Given the description of an element on the screen output the (x, y) to click on. 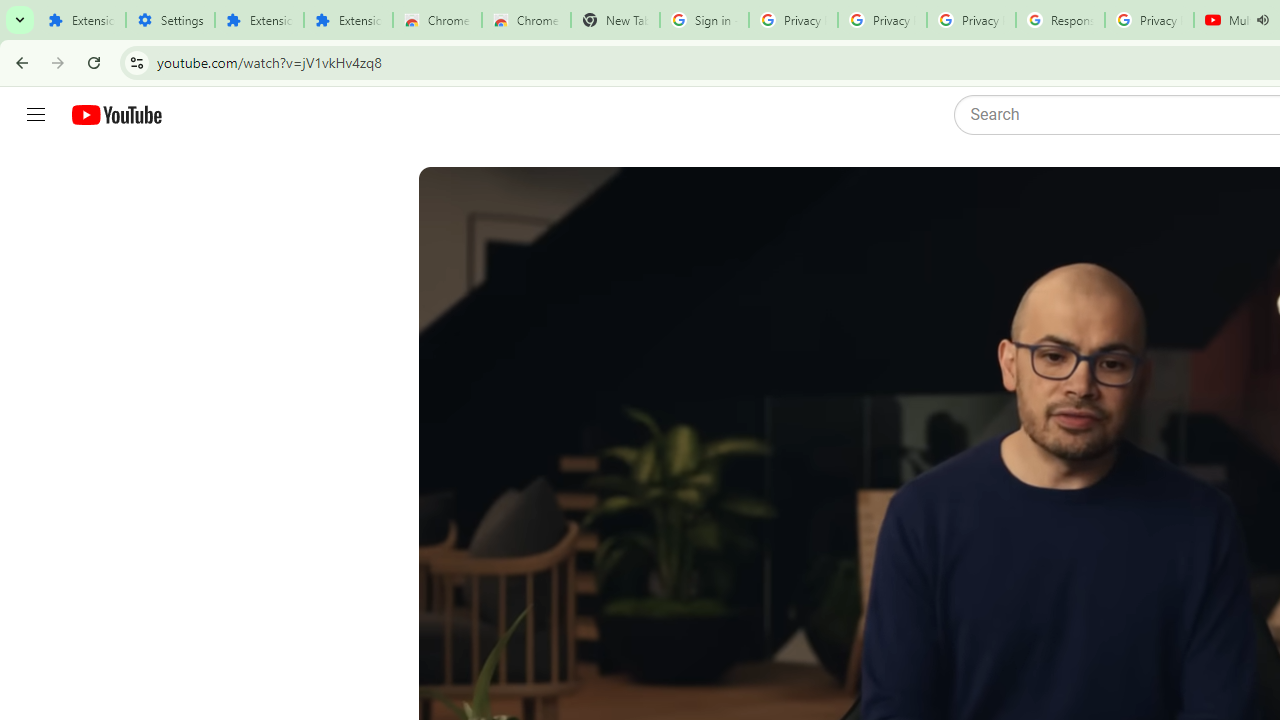
Guide (35, 115)
Extensions (259, 20)
Extensions (347, 20)
Chrome Web Store - Themes (526, 20)
YouTube Home (116, 115)
Settings (170, 20)
Extensions (81, 20)
New Tab (615, 20)
